Given the description of an element on the screen output the (x, y) to click on. 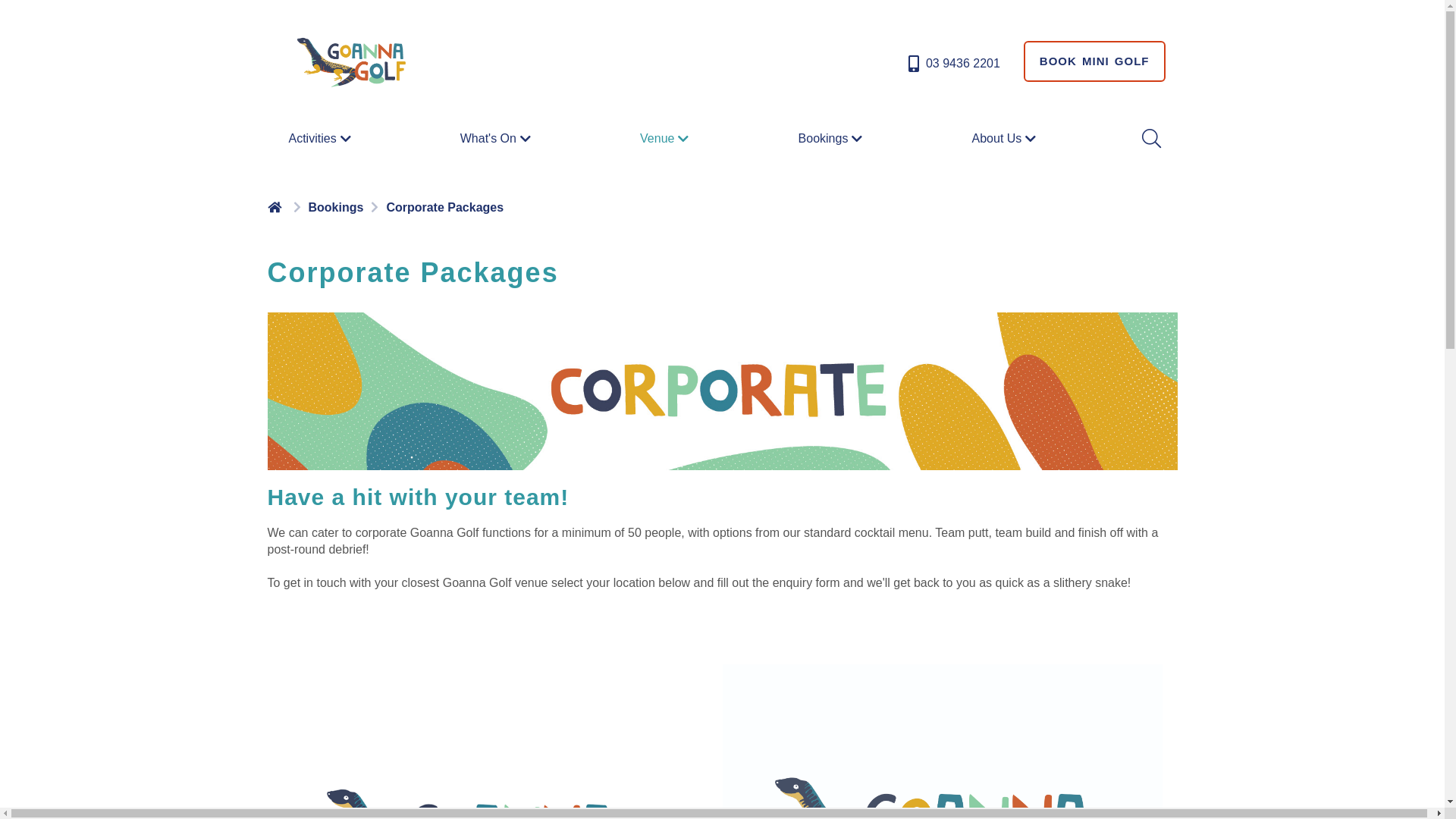
Venue Element type: text (665, 137)
Activities Element type: text (321, 137)
03 9436 2201 Element type: text (952, 63)
Search Element type: text (1150, 138)
Bookings Element type: text (832, 137)
  Element type: text (275, 206)
BOOK MINI GOLF Element type: text (1094, 60)
What's On Element type: text (497, 137)
About Us Element type: text (1006, 137)
